Given the description of an element on the screen output the (x, y) to click on. 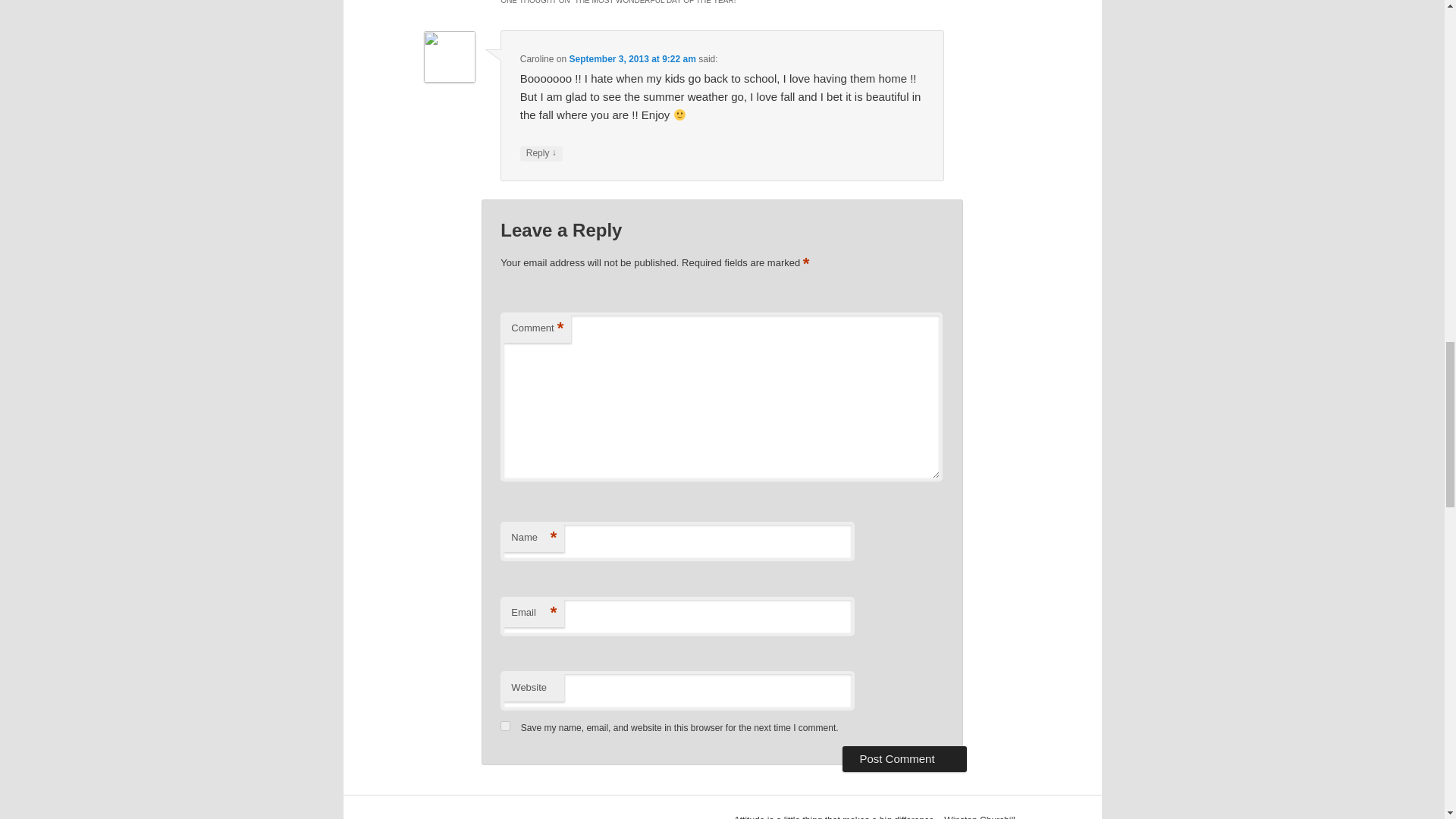
Post Comment (904, 759)
yes (505, 726)
